Given the description of an element on the screen output the (x, y) to click on. 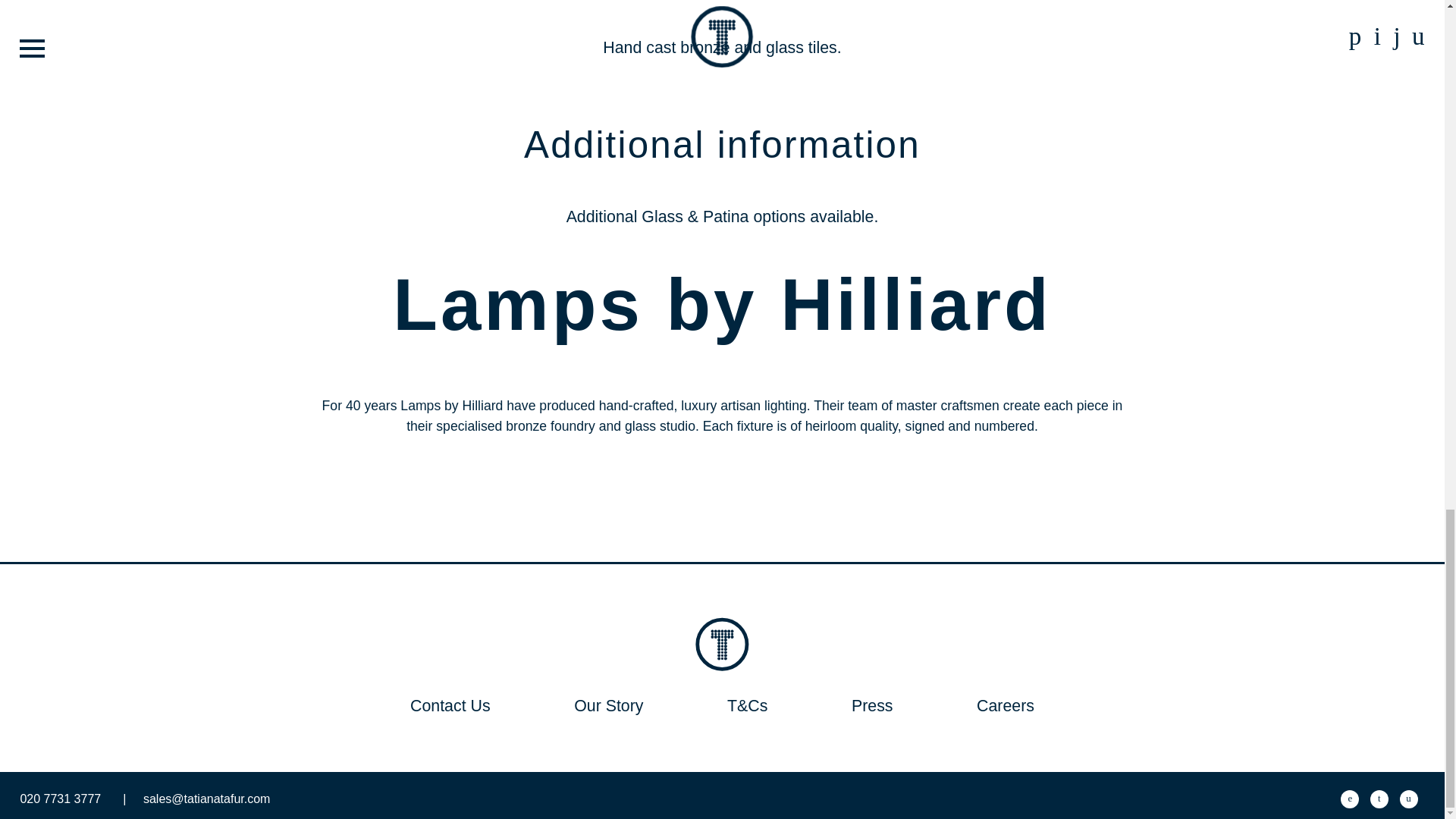
Press (872, 705)
Contact Us (450, 705)
020 7731 3777 (72, 798)
Our Story (608, 705)
Careers (1004, 705)
